Given the description of an element on the screen output the (x, y) to click on. 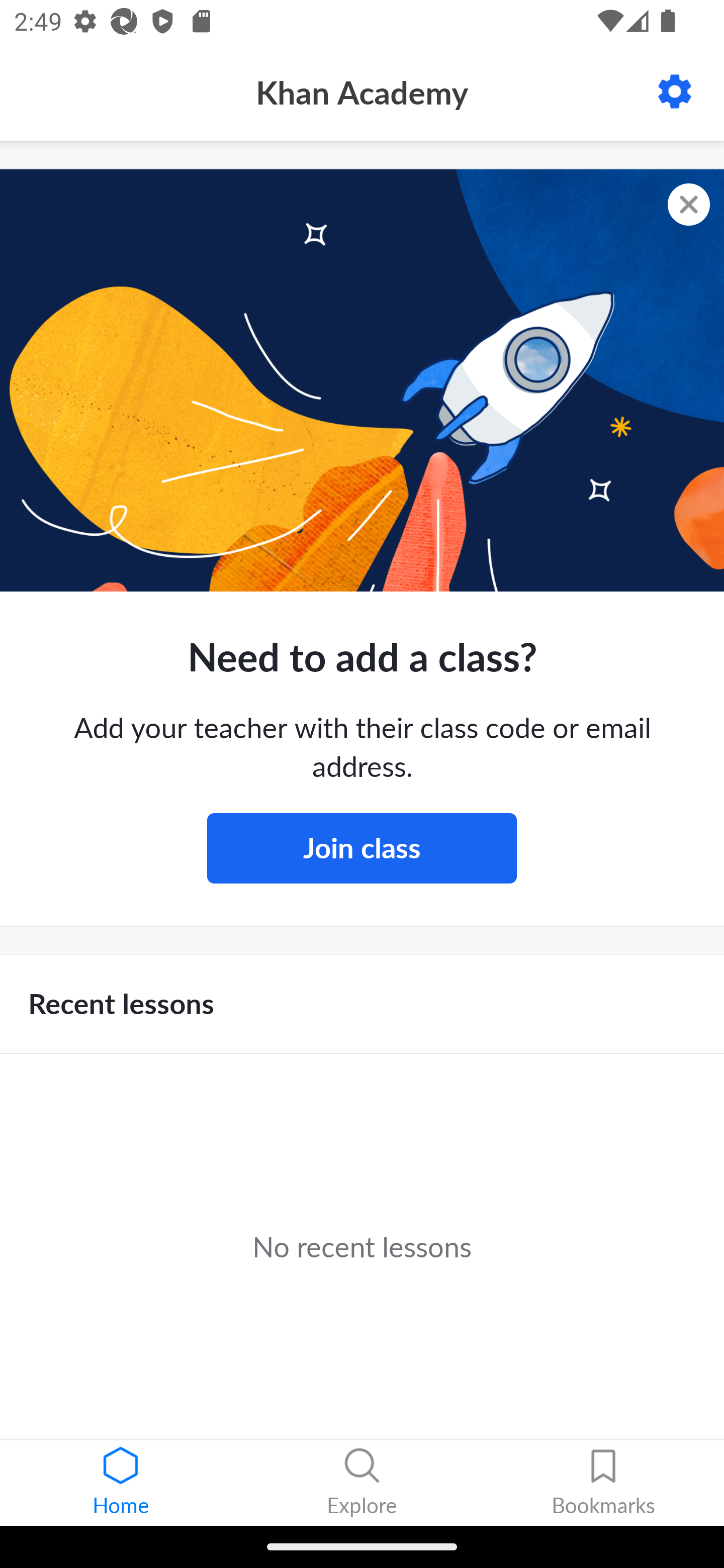
Settings (674, 91)
Dismiss (688, 204)
Join class (361, 847)
Home (120, 1482)
Explore (361, 1482)
Bookmarks (603, 1482)
